Given the description of an element on the screen output the (x, y) to click on. 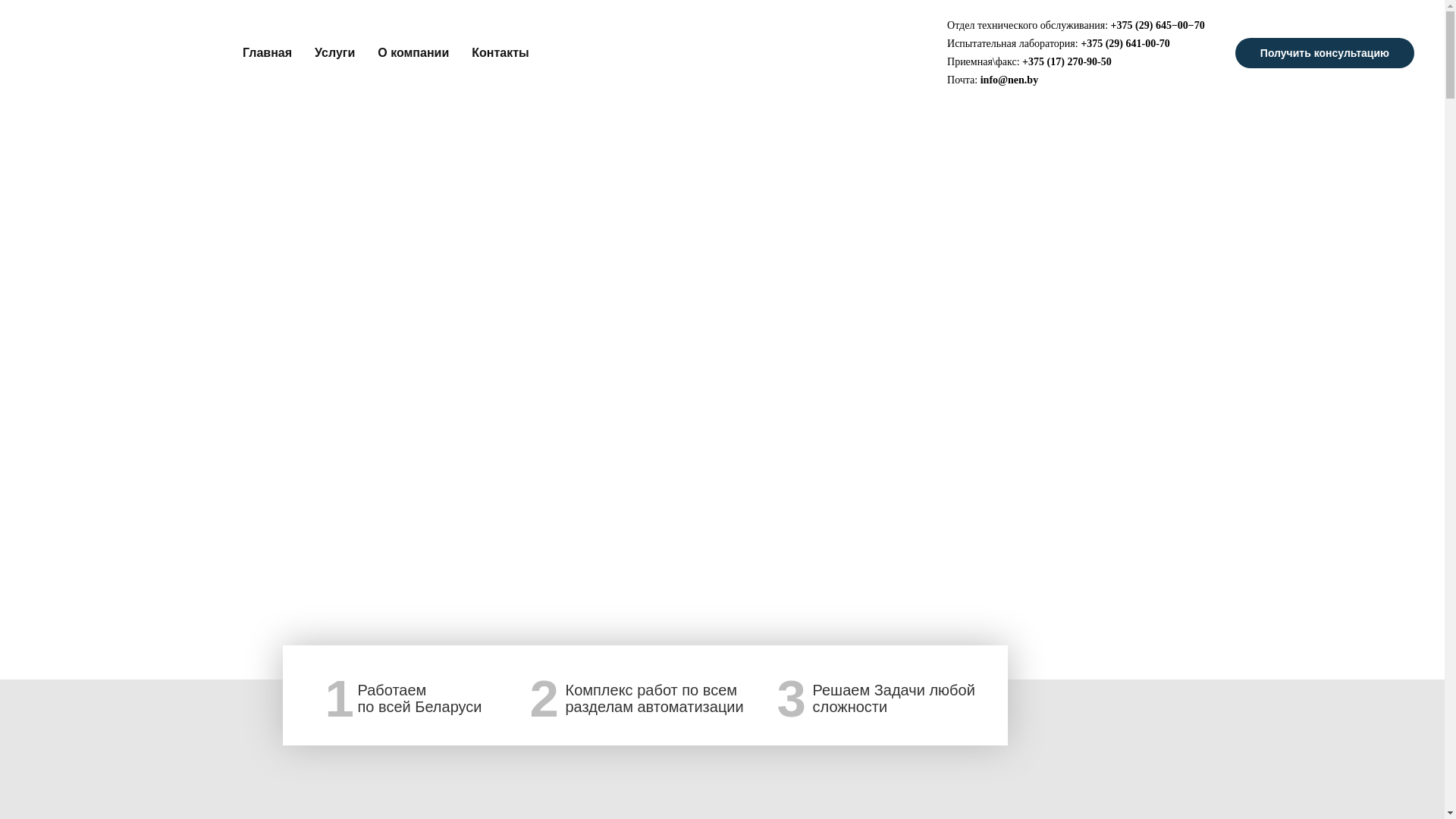
+375 (29) 641-00-70 Element type: text (1125, 43)
info@nen.by Element type: text (1009, 79)
